Given the description of an element on the screen output the (x, y) to click on. 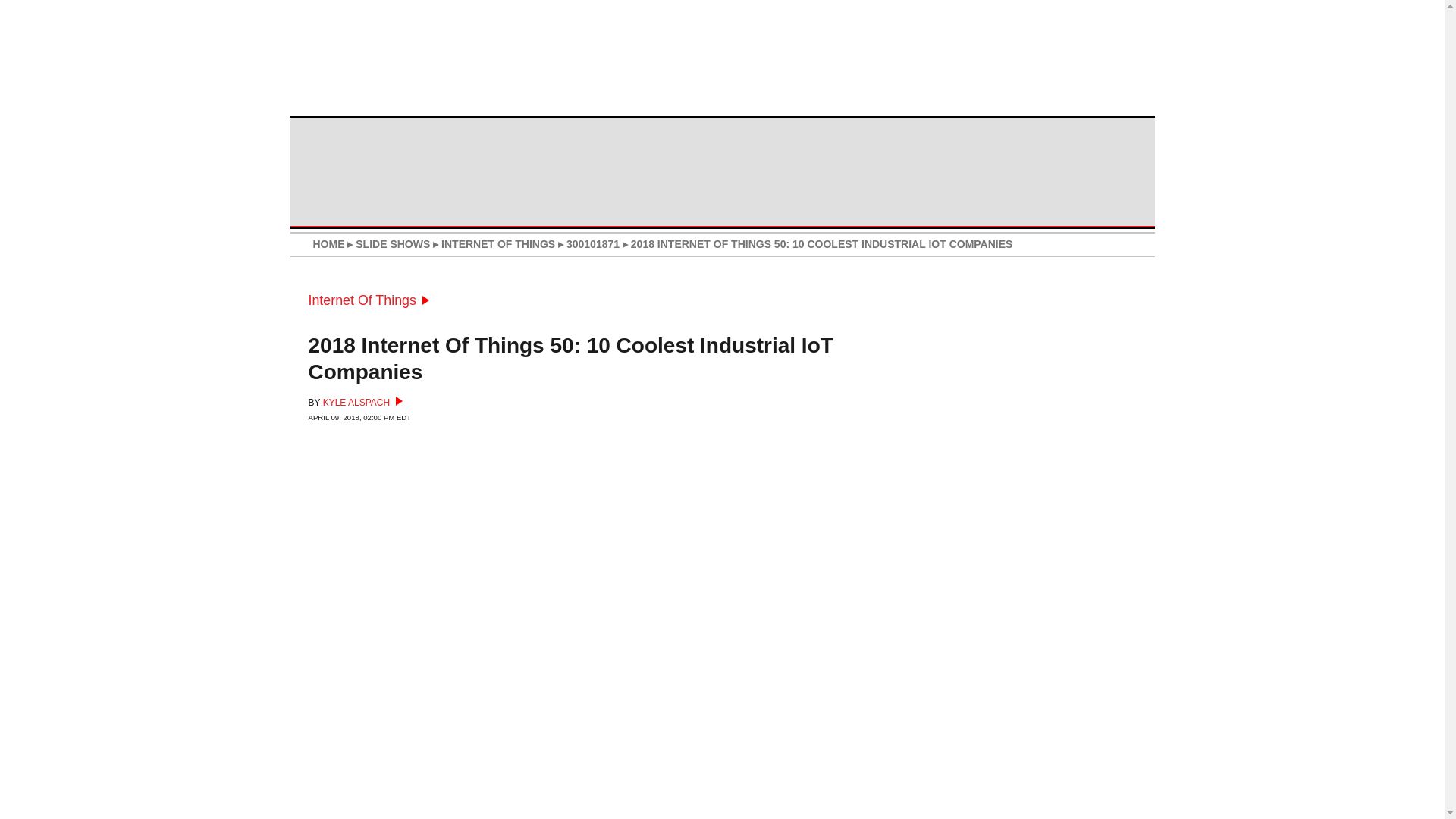
Internet Of Things (367, 299)
Internet Of Things (367, 299)
HOME (328, 244)
